Given the description of an element on the screen output the (x, y) to click on. 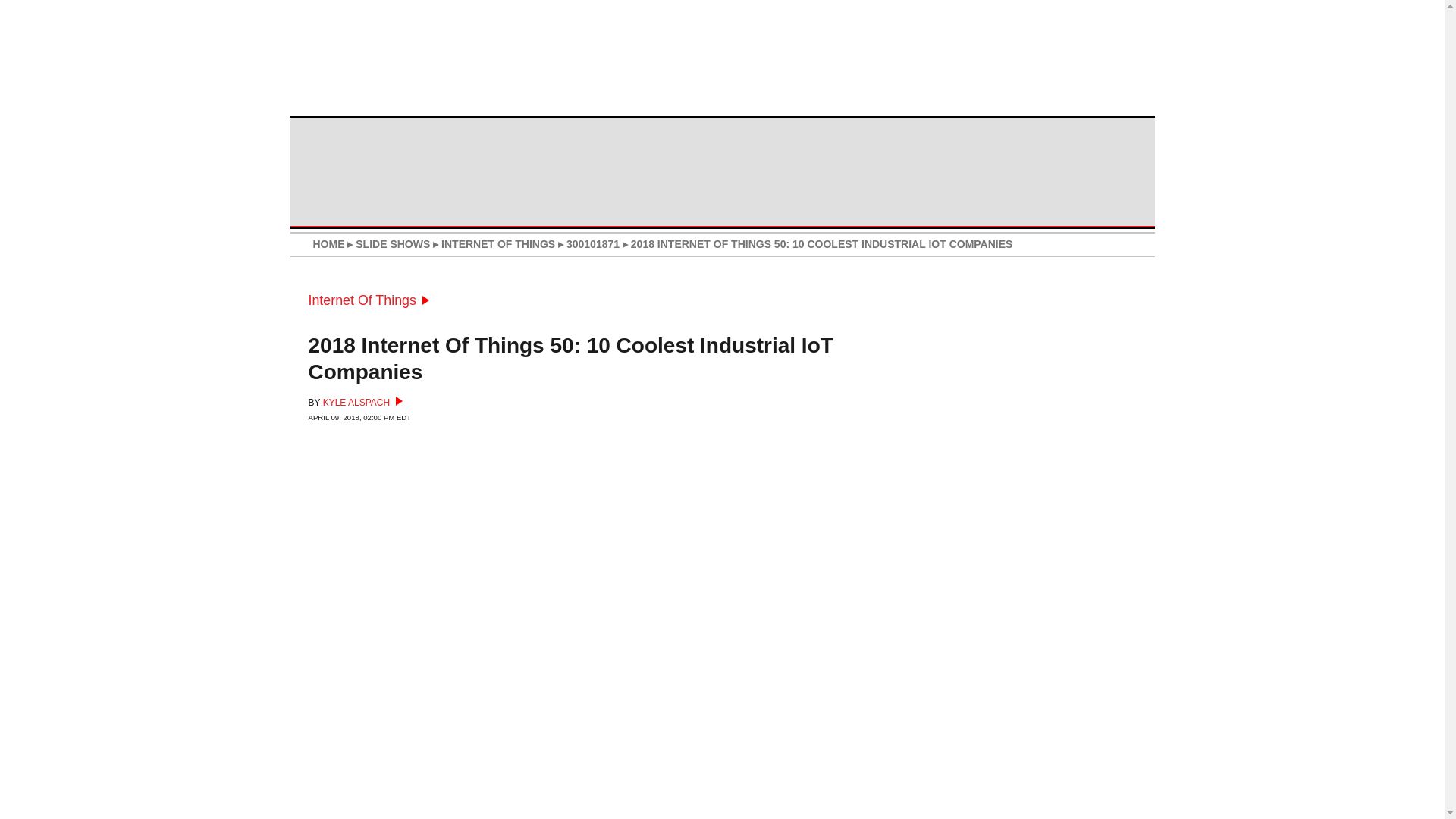
Internet Of Things (367, 299)
Internet Of Things (367, 299)
HOME (328, 244)
